Given the description of an element on the screen output the (x, y) to click on. 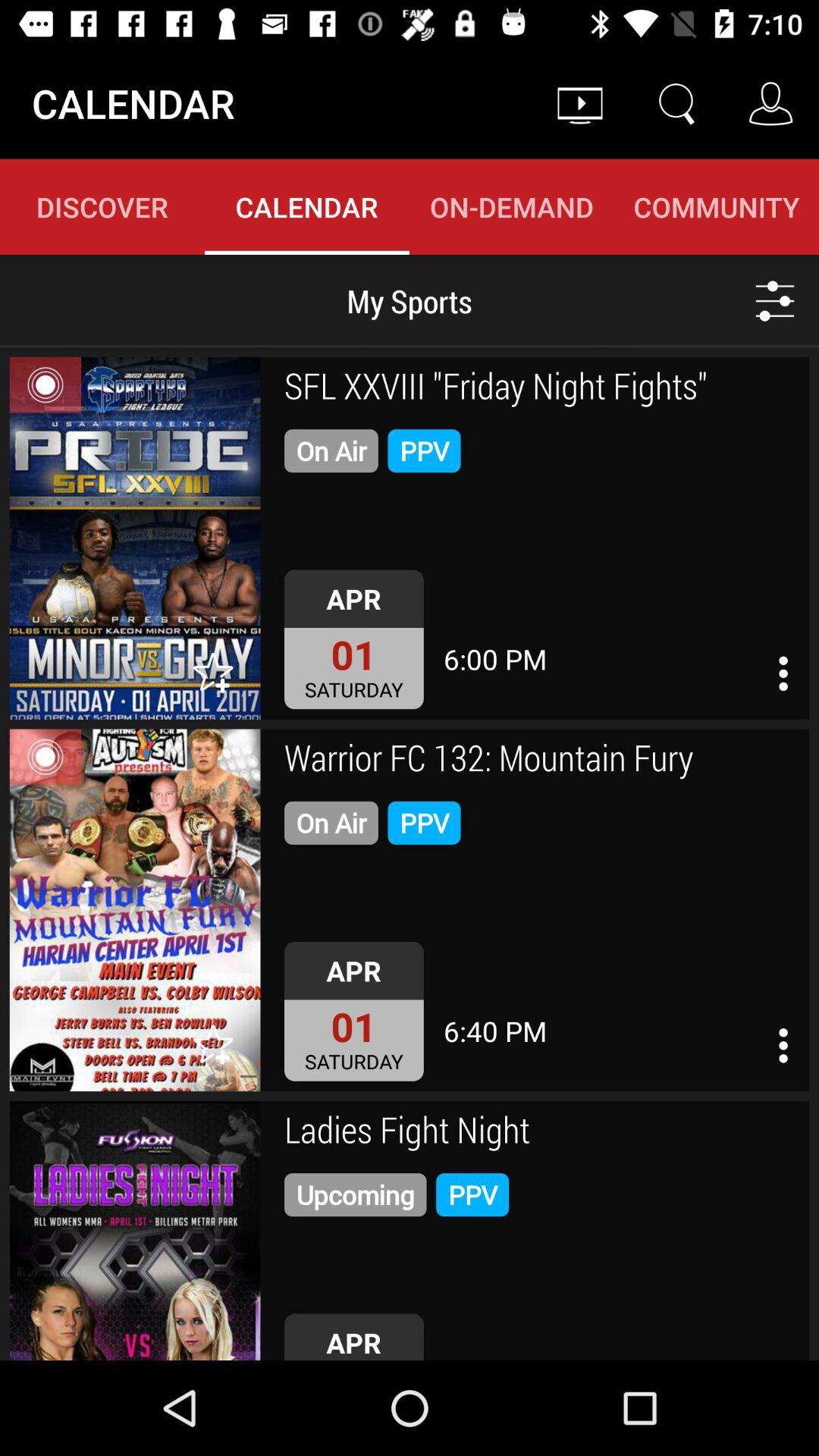
click warrior fc 132 item (541, 760)
